Given the description of an element on the screen output the (x, y) to click on. 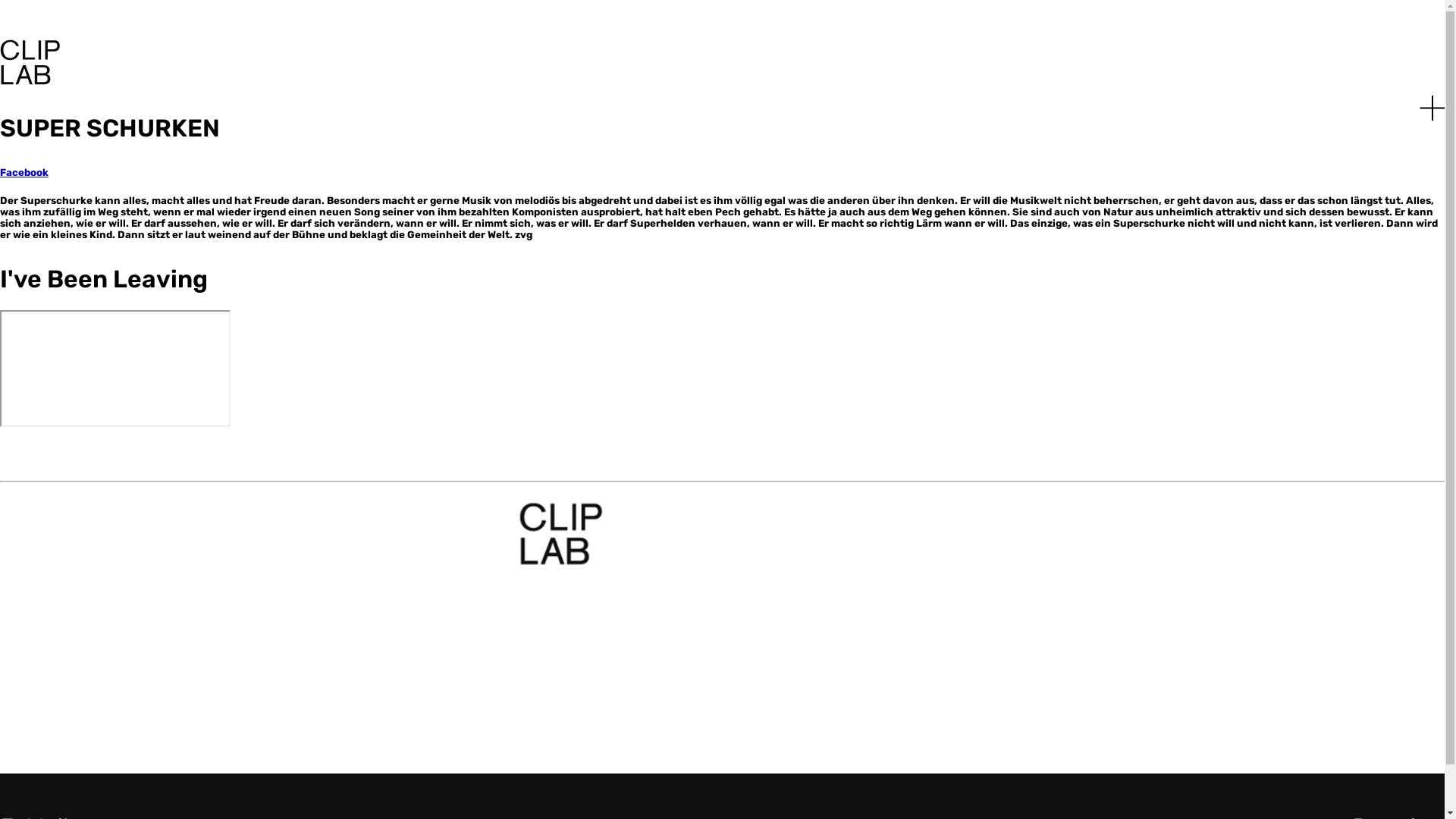
image/svg+xml Element type: text (30, 80)
Facebook Element type: text (24, 172)
